Given the description of an element on the screen output the (x, y) to click on. 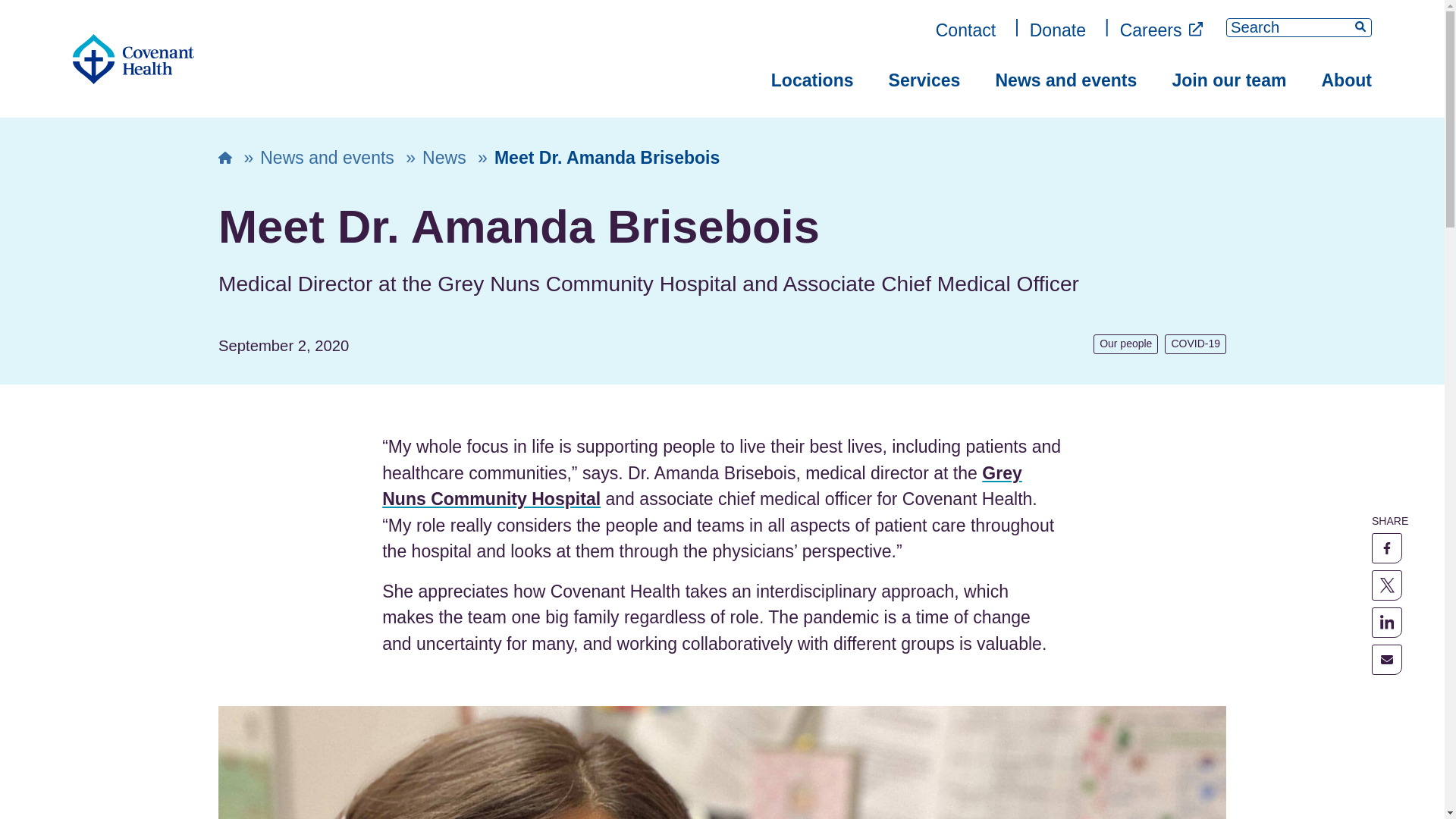
Services (924, 80)
Locations (812, 80)
Contact (965, 30)
Contact Covenant Health (965, 30)
CareersExternal Link (1161, 30)
Home (132, 59)
Donate  (1057, 30)
Apply for a job (1161, 30)
Donate (1057, 30)
Locations (812, 80)
External Link (1195, 29)
